Given the description of an element on the screen output the (x, y) to click on. 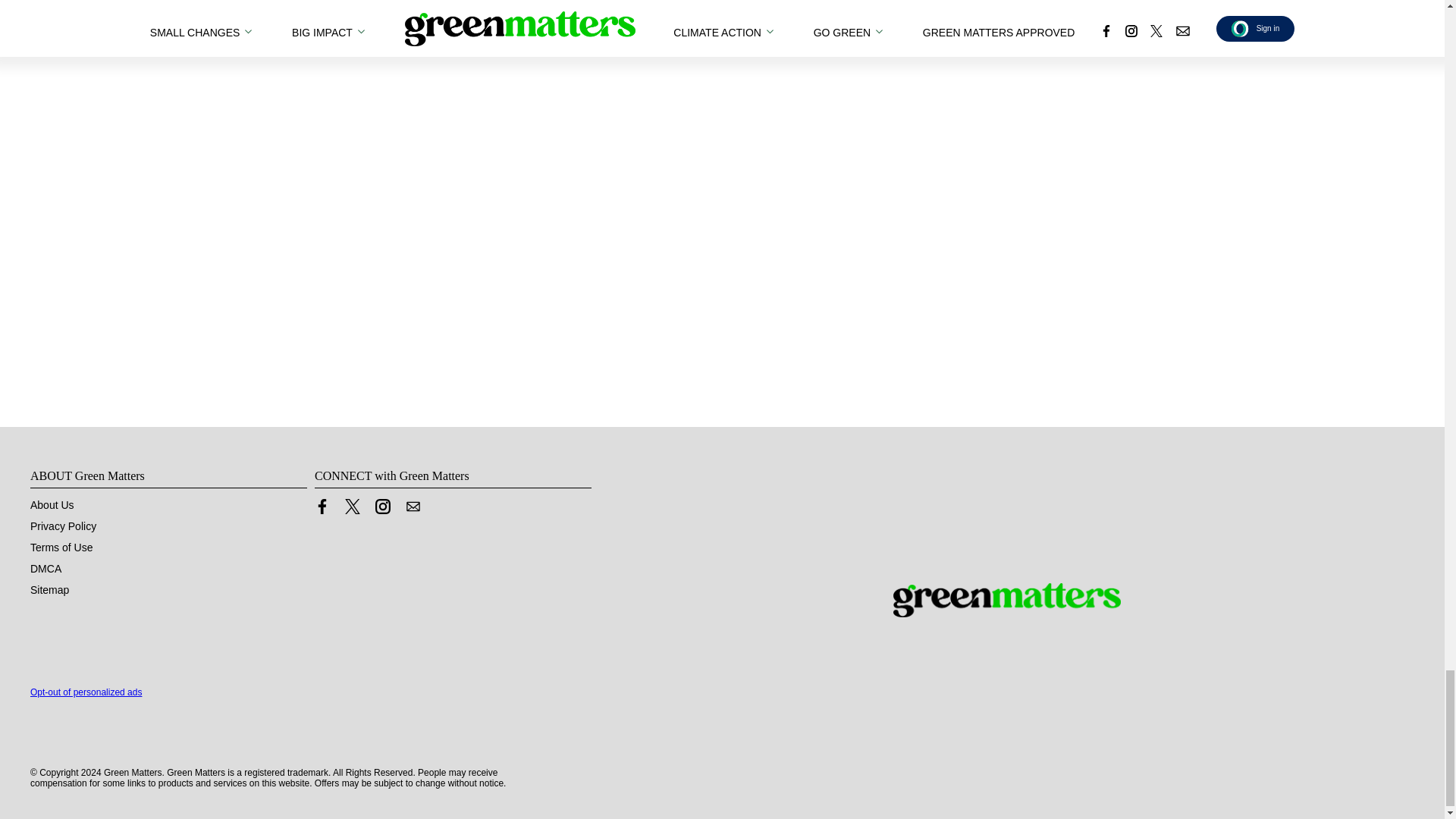
Sitemap (49, 589)
Link to X (352, 505)
About Us (52, 503)
Privacy Policy (63, 525)
Link to Facebook (322, 505)
Terms of Use (61, 546)
Link to Instagram (382, 505)
DMCA (45, 567)
Contact us by Email (413, 505)
